Given the description of an element on the screen output the (x, y) to click on. 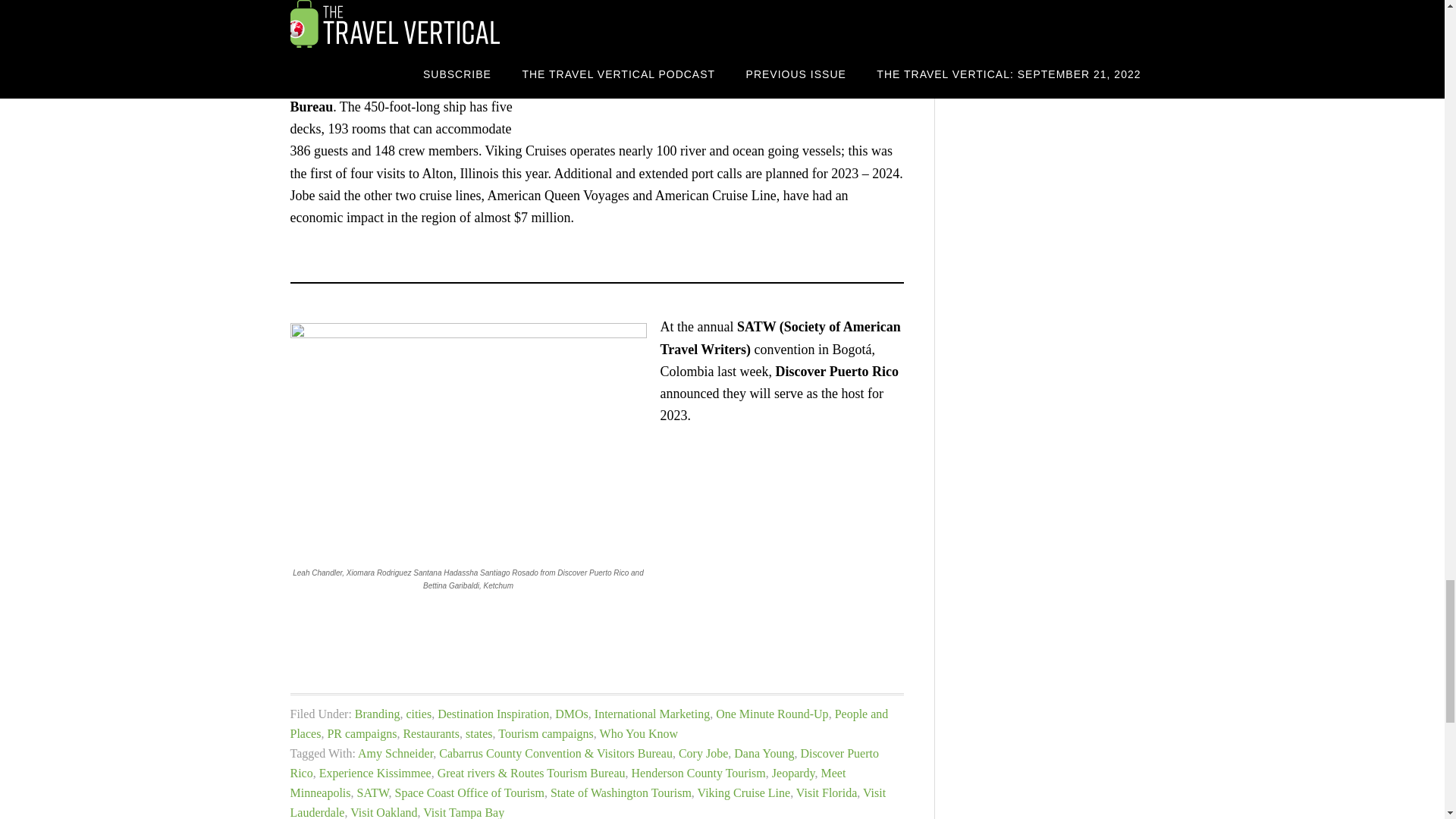
DMOs (571, 713)
International Marketing (652, 713)
Experience Kissimmee (374, 772)
Restaurants (431, 733)
PR campaigns (361, 733)
One Minute Round-Up (772, 713)
states (479, 733)
Who You Know (638, 733)
Amy Schneider (395, 753)
Tourism campaigns (545, 733)
Destination Inspiration (493, 713)
Branding (377, 713)
cities (418, 713)
Discover Puerto Rico (583, 762)
Cory Jobe (703, 753)
